Given the description of an element on the screen output the (x, y) to click on. 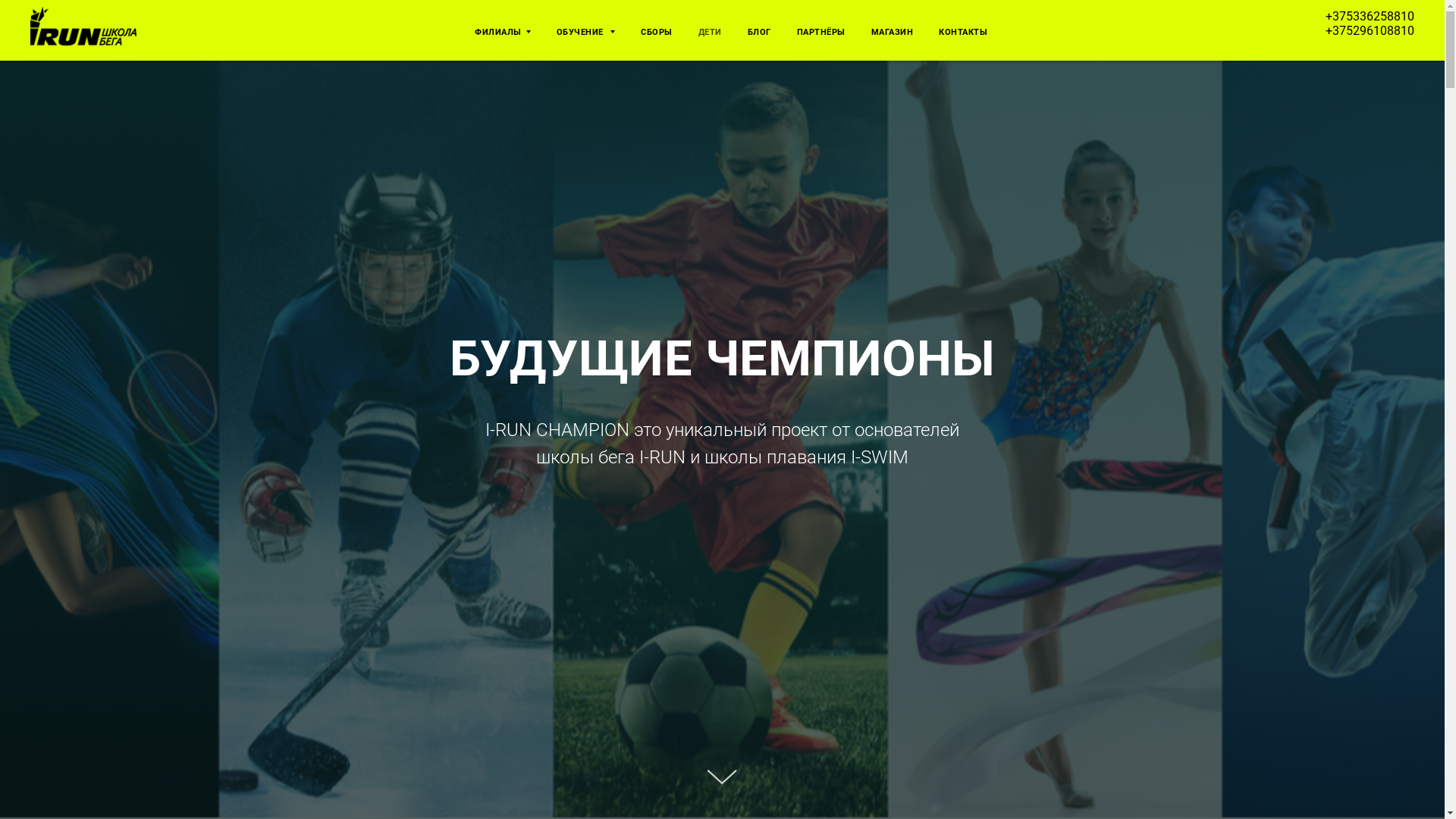
+375336258810 Element type: text (1369, 16)
+375296108810 Element type: text (1369, 29)
